Given the description of an element on the screen output the (x, y) to click on. 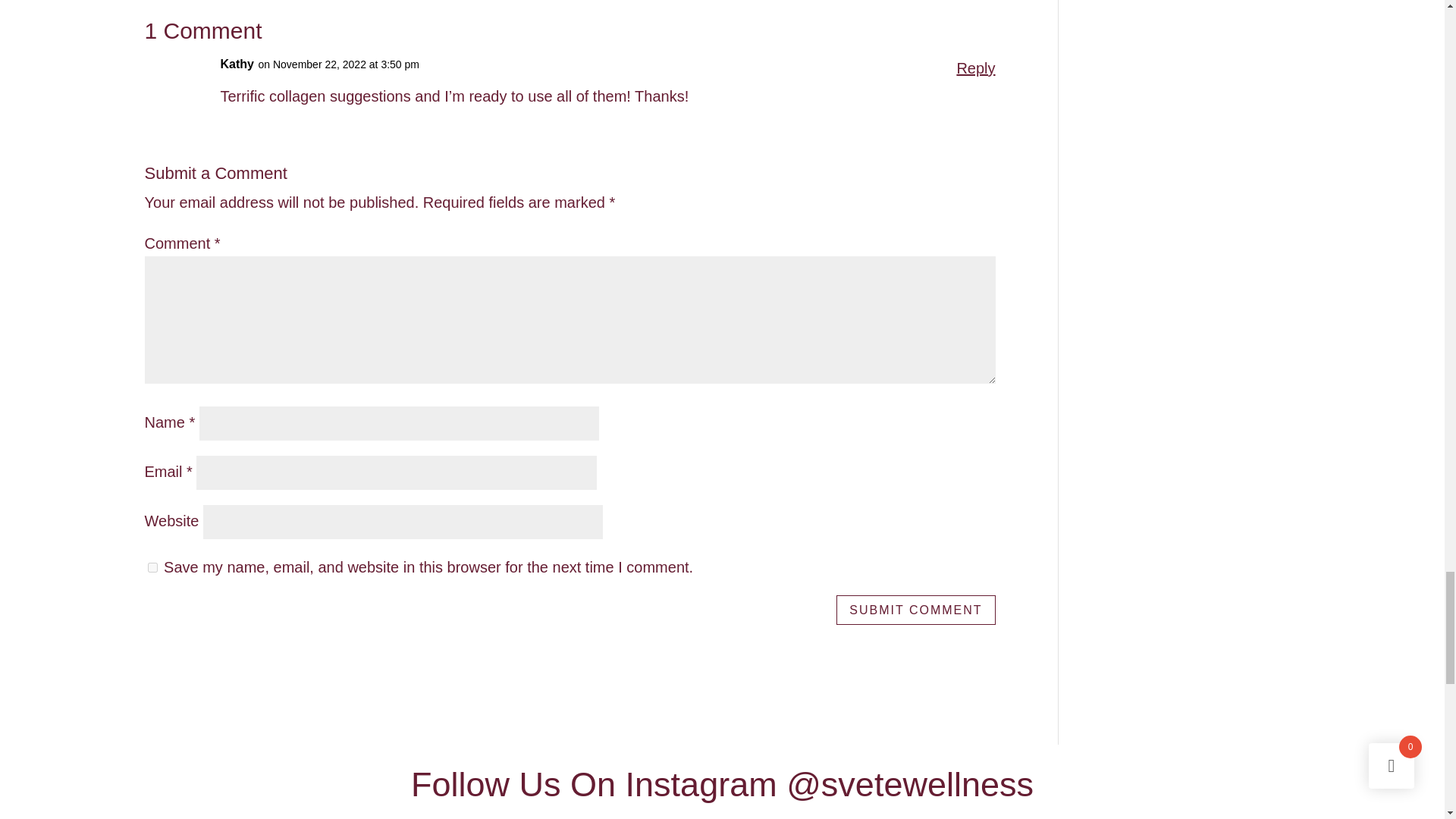
Submit Comment (914, 609)
Submit Comment (914, 609)
yes (152, 567)
Reply (975, 68)
